Given the description of an element on the screen output the (x, y) to click on. 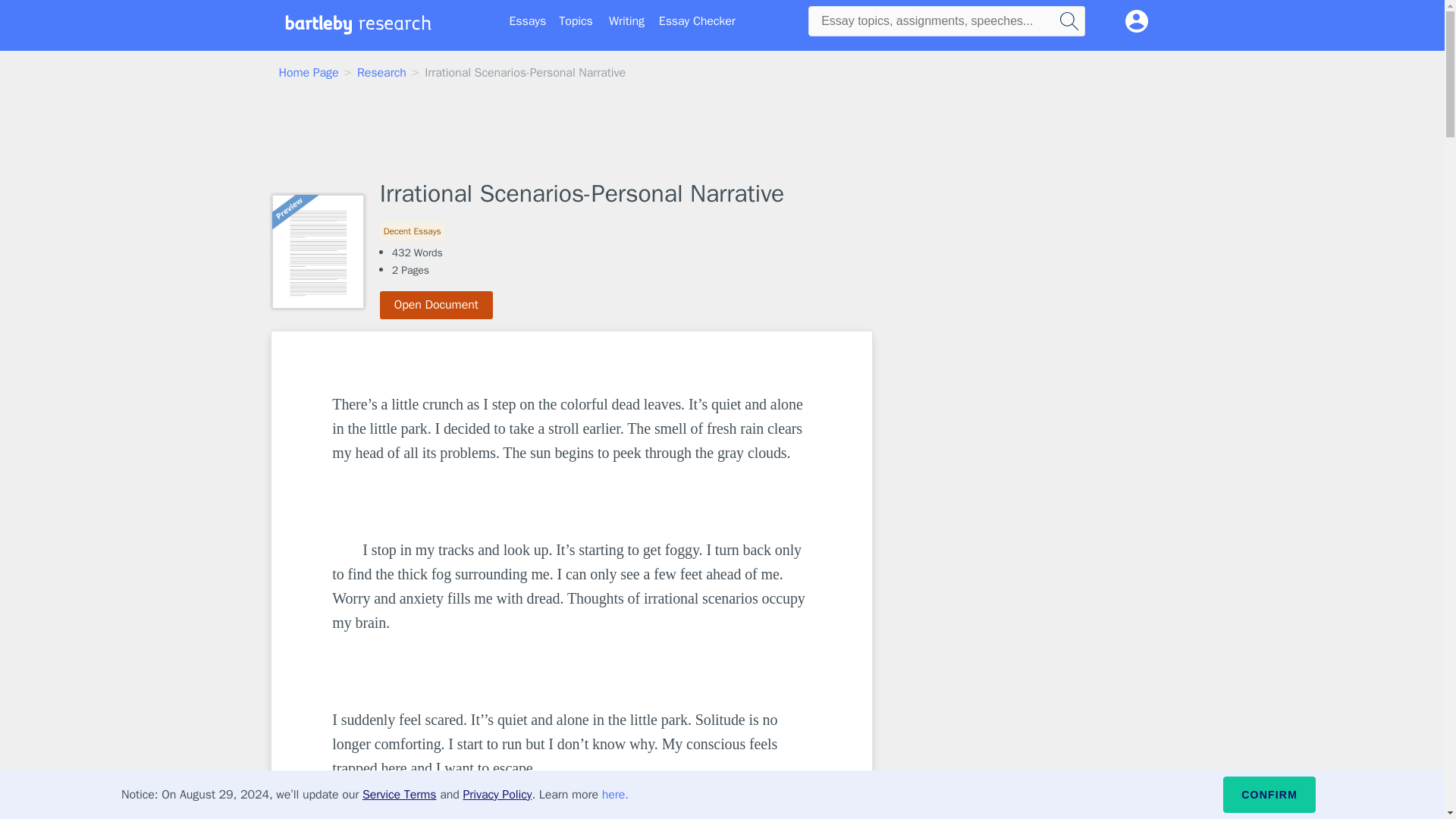
Open Document (436, 305)
Topics (575, 20)
Research (381, 72)
Essays (528, 20)
Essay Checker (697, 20)
Home Page (309, 72)
Writing (626, 20)
